Given the description of an element on the screen output the (x, y) to click on. 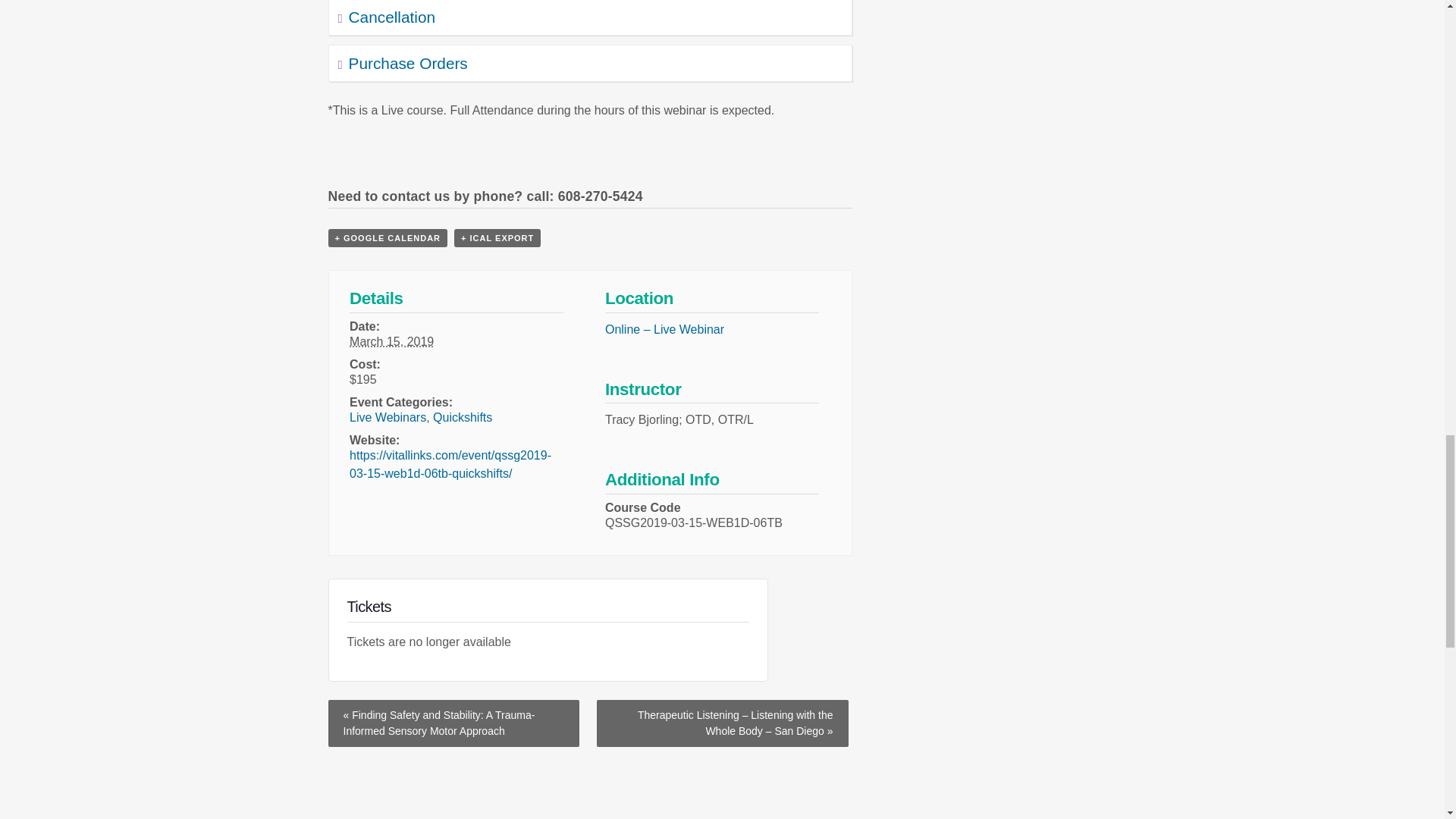
Download .ics file (497, 238)
Add to Google Calendar (386, 238)
2019-03-15 (391, 341)
